Given the description of an element on the screen output the (x, y) to click on. 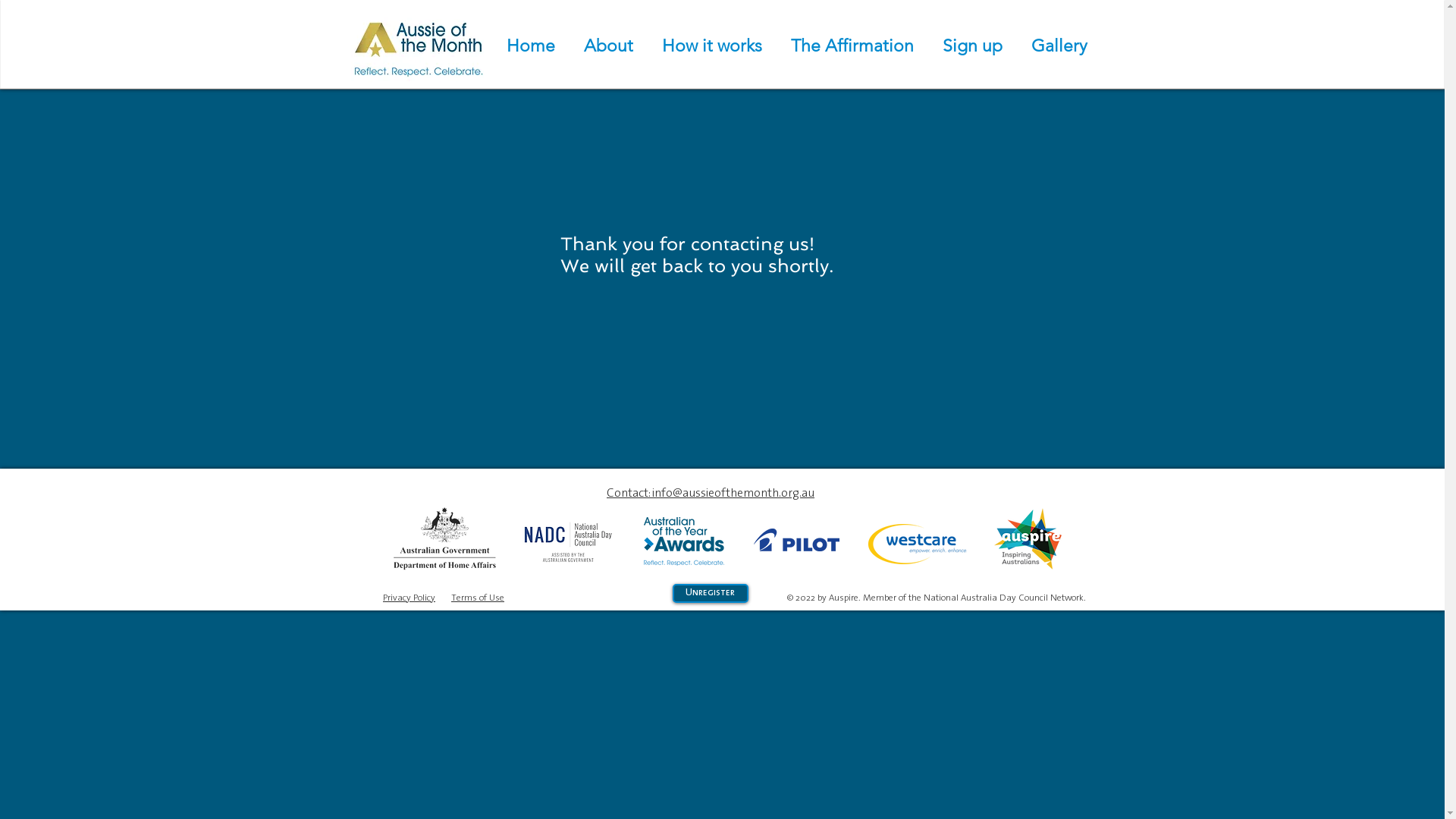
Gallery Element type: text (1061, 45)
Terms of Use Element type: text (477, 597)
About Element type: text (610, 45)
Home Element type: text (532, 45)
Privacy Policy Element type: text (408, 597)
The Affirmation Element type: text (855, 45)
How it works Element type: text (714, 45)
Unregister Element type: text (709, 592)
Sign up Element type: text (975, 45)
AOTM logo.jpg Element type: hover (416, 45)
Contact: info@aussieofthemonth.org.au Element type: text (710, 492)
Department of Home Affairs.png Element type: hover (443, 538)
